Given the description of an element on the screen output the (x, y) to click on. 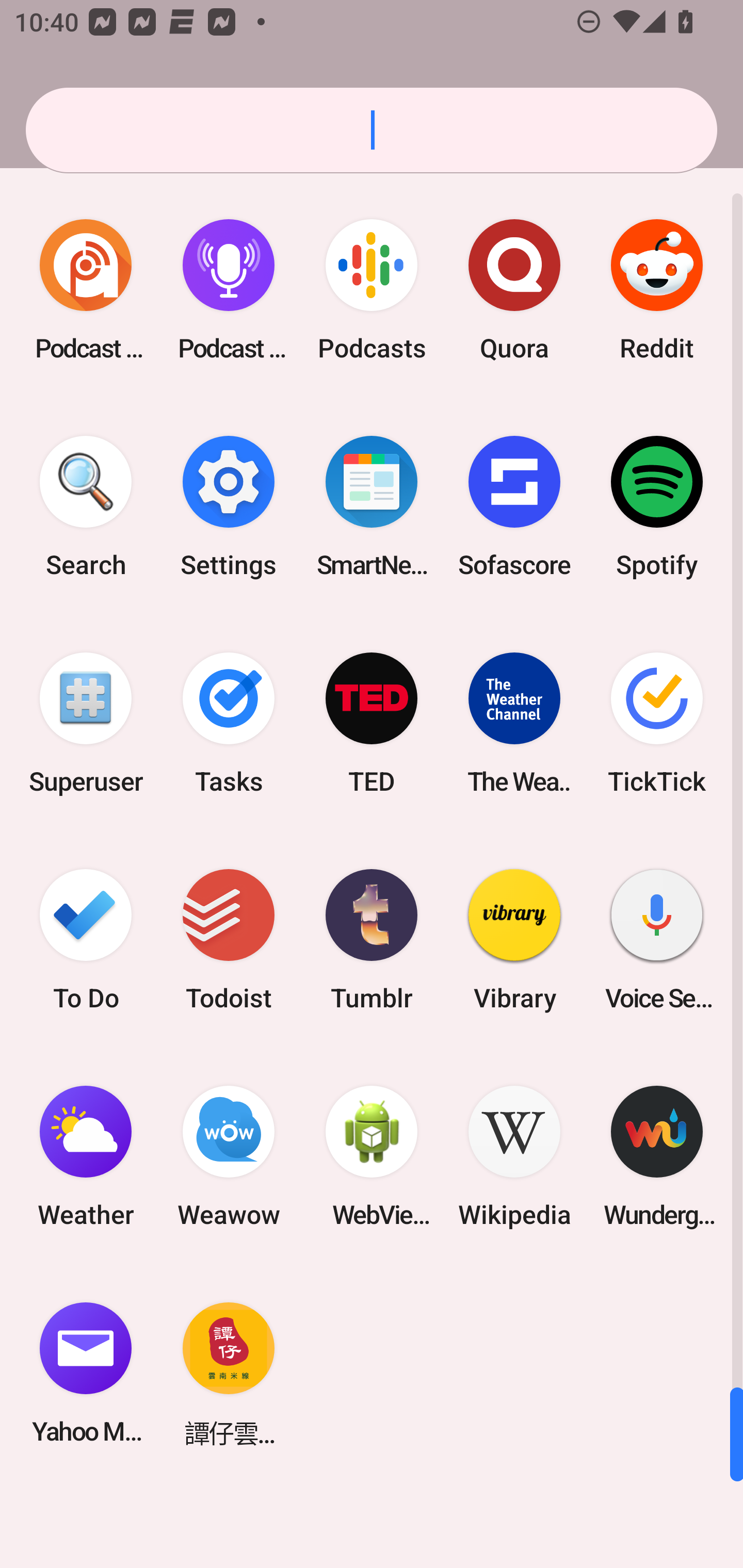
  Search apps (371, 130)
Podcast Addict (85, 289)
Podcast Player (228, 289)
Podcasts (371, 289)
Quora (514, 289)
Reddit (656, 289)
Search (85, 506)
Settings (228, 506)
SmartNews (371, 506)
Sofascore (514, 506)
Spotify (656, 506)
Superuser (85, 722)
Tasks (228, 722)
TED (371, 722)
The Weather Channel (514, 722)
TickTick (656, 722)
To Do (85, 939)
Todoist (228, 939)
Tumblr (371, 939)
Vibrary (514, 939)
Voice Search (656, 939)
Weather (85, 1156)
Weawow (228, 1156)
WebView Browser Tester (371, 1156)
Wikipedia (514, 1156)
Wunderground (656, 1156)
Yahoo Mail (85, 1373)
譚仔雲南米線 (228, 1373)
